Given the description of an element on the screen output the (x, y) to click on. 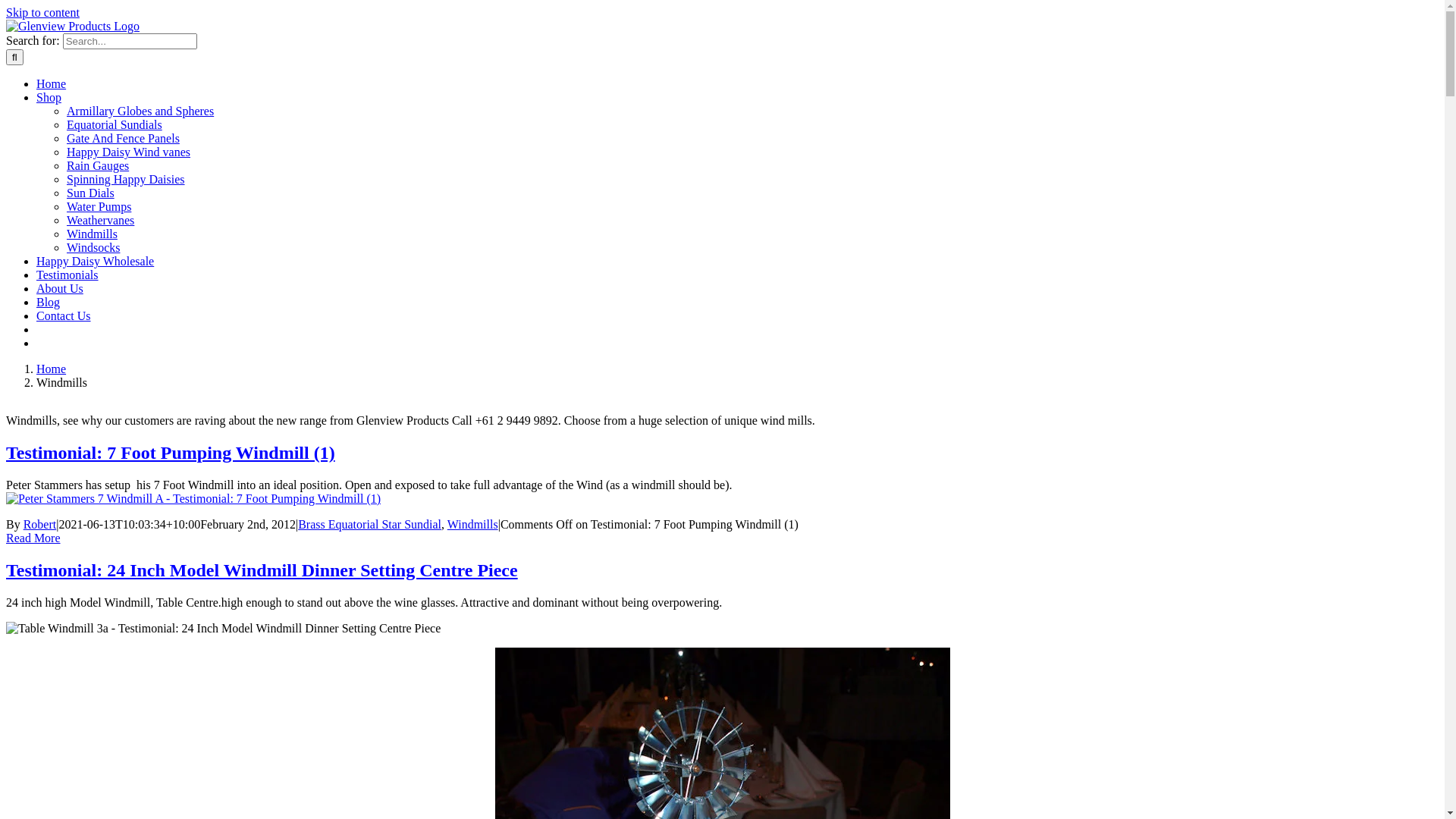
About Us Element type: text (59, 288)
Blog Element type: text (47, 301)
Home Element type: text (50, 83)
Happy Daisy Wholesale Element type: text (94, 260)
Testimonials Element type: text (67, 274)
Weathervanes Element type: text (100, 219)
Windmills Element type: text (91, 233)
Testimonial: 7 Foot Pumping Windmill (1) Element type: text (170, 452)
Sun Dials Element type: text (90, 192)
Home Element type: text (50, 368)
Brass Equatorial Star Sundial Element type: text (369, 523)
Robert Element type: text (39, 523)
Happy Daisy Wind vanes Element type: text (128, 151)
Equatorial Sundials Element type: text (114, 124)
Testimonial: 7 Foot Pumping Windmill (1) Element type: hover (193, 498)
Read More Element type: text (33, 537)
Gate And Fence Panels Element type: text (122, 137)
Rain Gauges Element type: text (97, 165)
Shop Element type: text (48, 97)
Windsocks Element type: text (92, 247)
Skip to content Element type: text (42, 12)
Windmills Element type: text (472, 523)
Spinning Happy Daisies Element type: text (125, 178)
Armillary Globes and Spheres Element type: text (139, 110)
Water Pumps Element type: text (98, 206)
Contact Us Element type: text (63, 315)
